Given the description of an element on the screen output the (x, y) to click on. 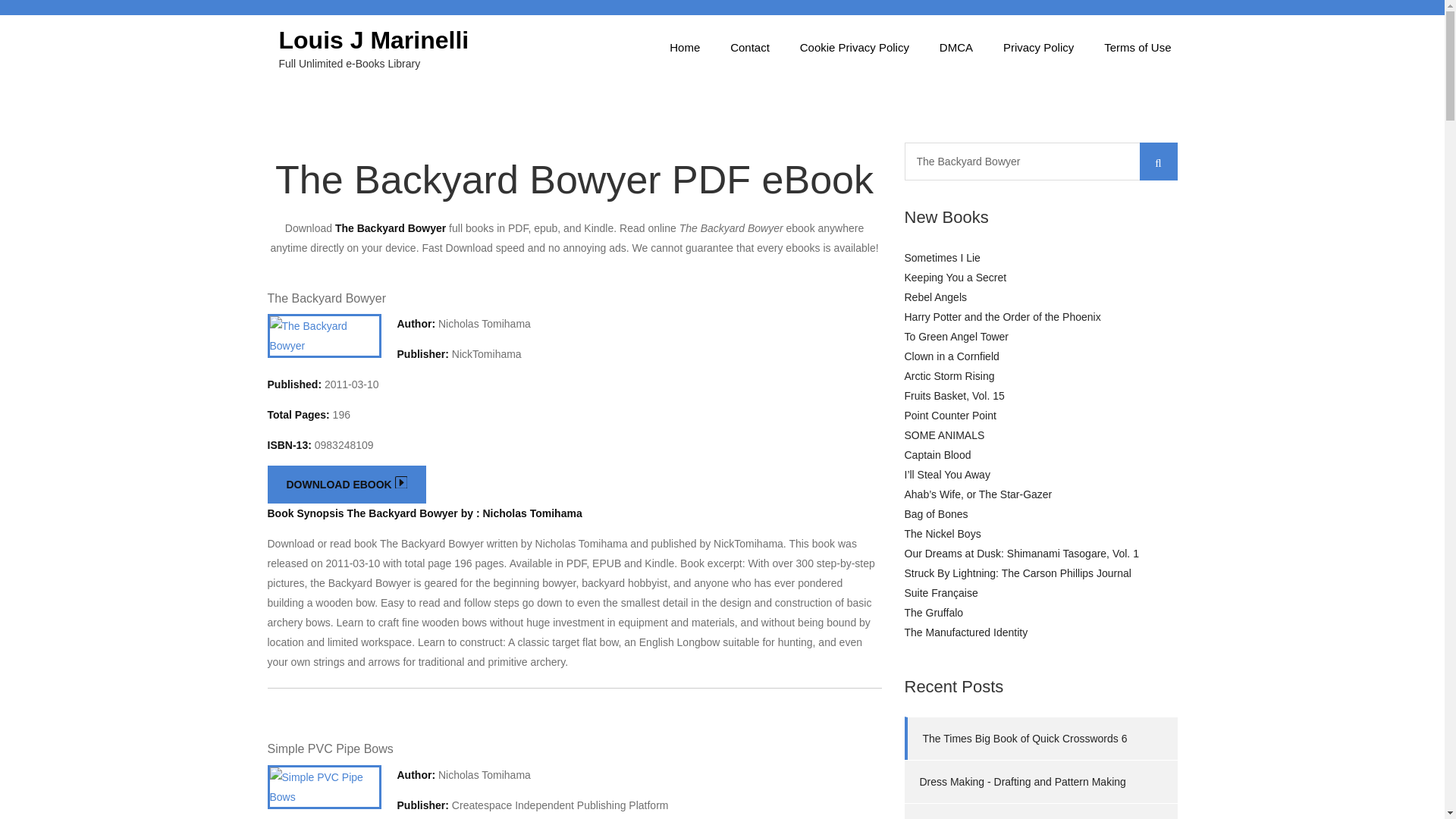
Terms of Use (1137, 47)
Simple PVC Pipe Bows (329, 748)
Cookie Privacy Policy (854, 47)
Contact (749, 47)
Search for: (1040, 161)
DOWNLOAD EBOOK (346, 484)
Search (1157, 161)
DMCA (956, 47)
The Backyard Bowyer (1040, 161)
